Given the description of an element on the screen output the (x, y) to click on. 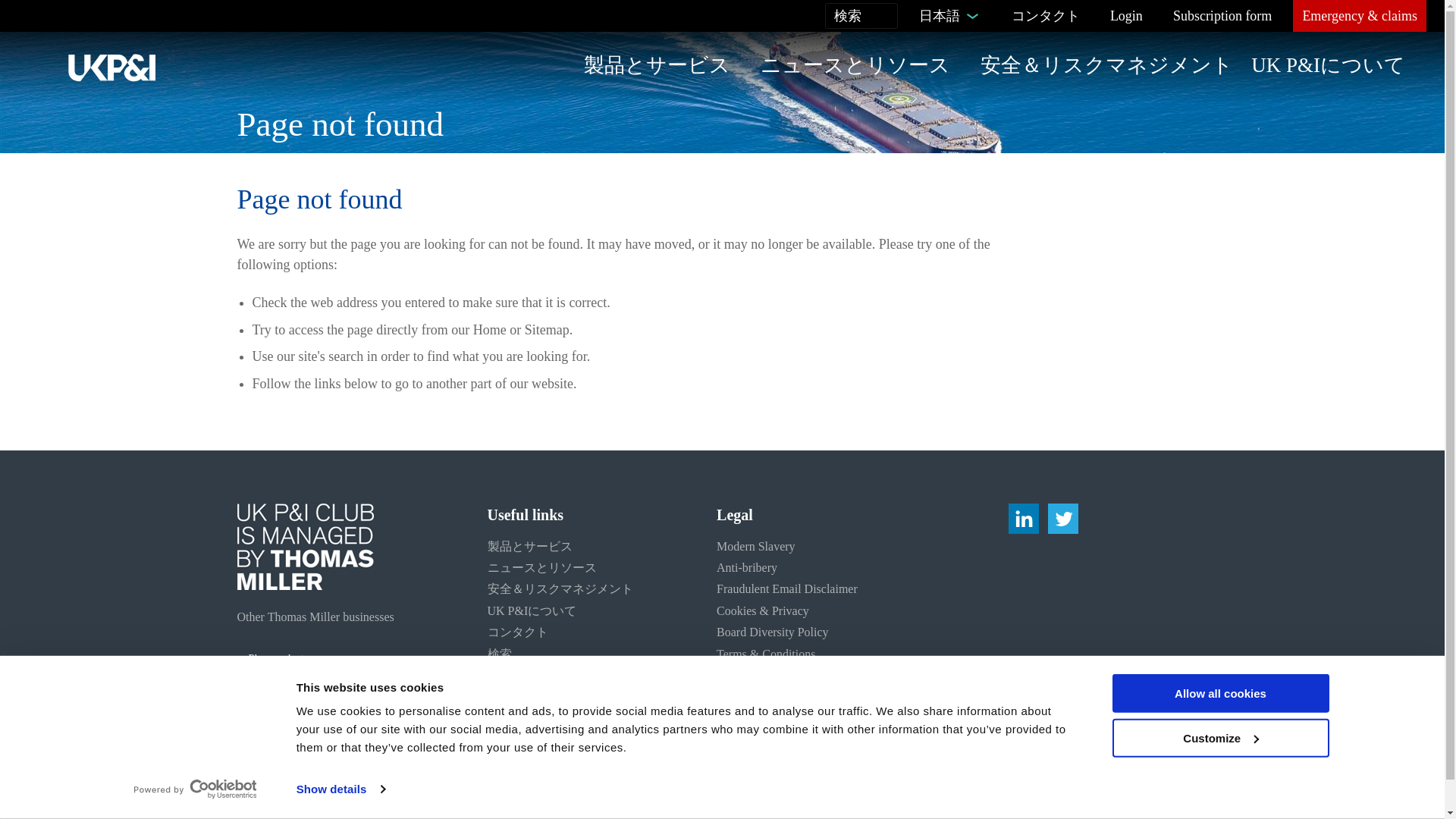
Show details (340, 789)
Allow all cookies (1219, 693)
Customize (1219, 738)
